Given the description of an element on the screen output the (x, y) to click on. 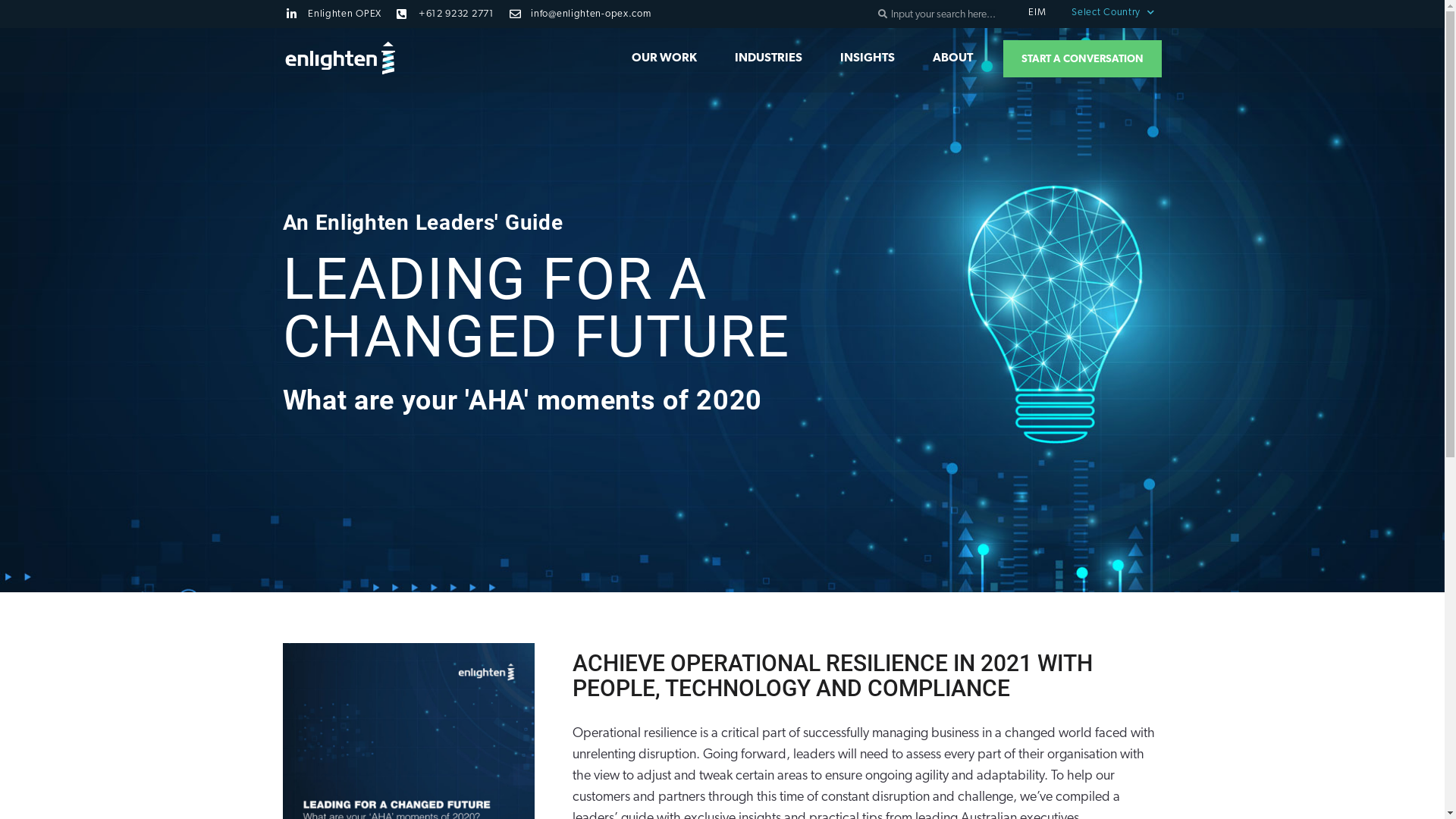
Enlighten OPEX Element type: text (334, 13)
START A CONVERSATION Element type: text (1082, 57)
OUR WORK Element type: text (663, 58)
INSIGHTS Element type: text (867, 58)
EIM Element type: text (1036, 12)
Select Country Element type: text (1112, 12)
INDUSTRIES Element type: text (768, 58)
ABOUT Element type: text (952, 58)
